Given the description of an element on the screen output the (x, y) to click on. 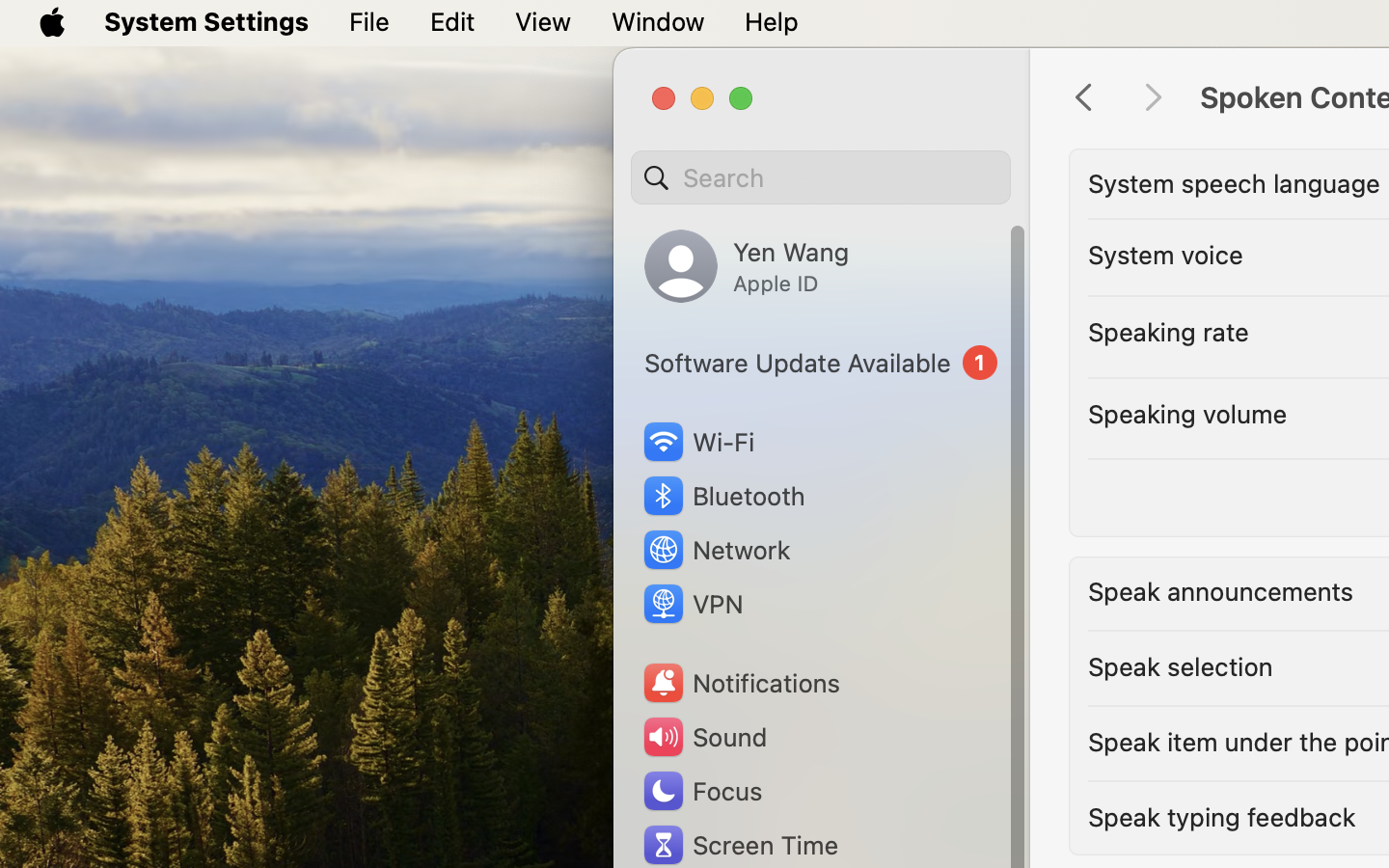
Wi‑Fi Element type: AXStaticText (697, 441)
Focus Element type: AXStaticText (701, 790)
System speech language Element type: AXStaticText (1233, 182)
Network Element type: AXStaticText (715, 549)
System voice Element type: AXStaticText (1165, 254)
